Given the description of an element on the screen output the (x, y) to click on. 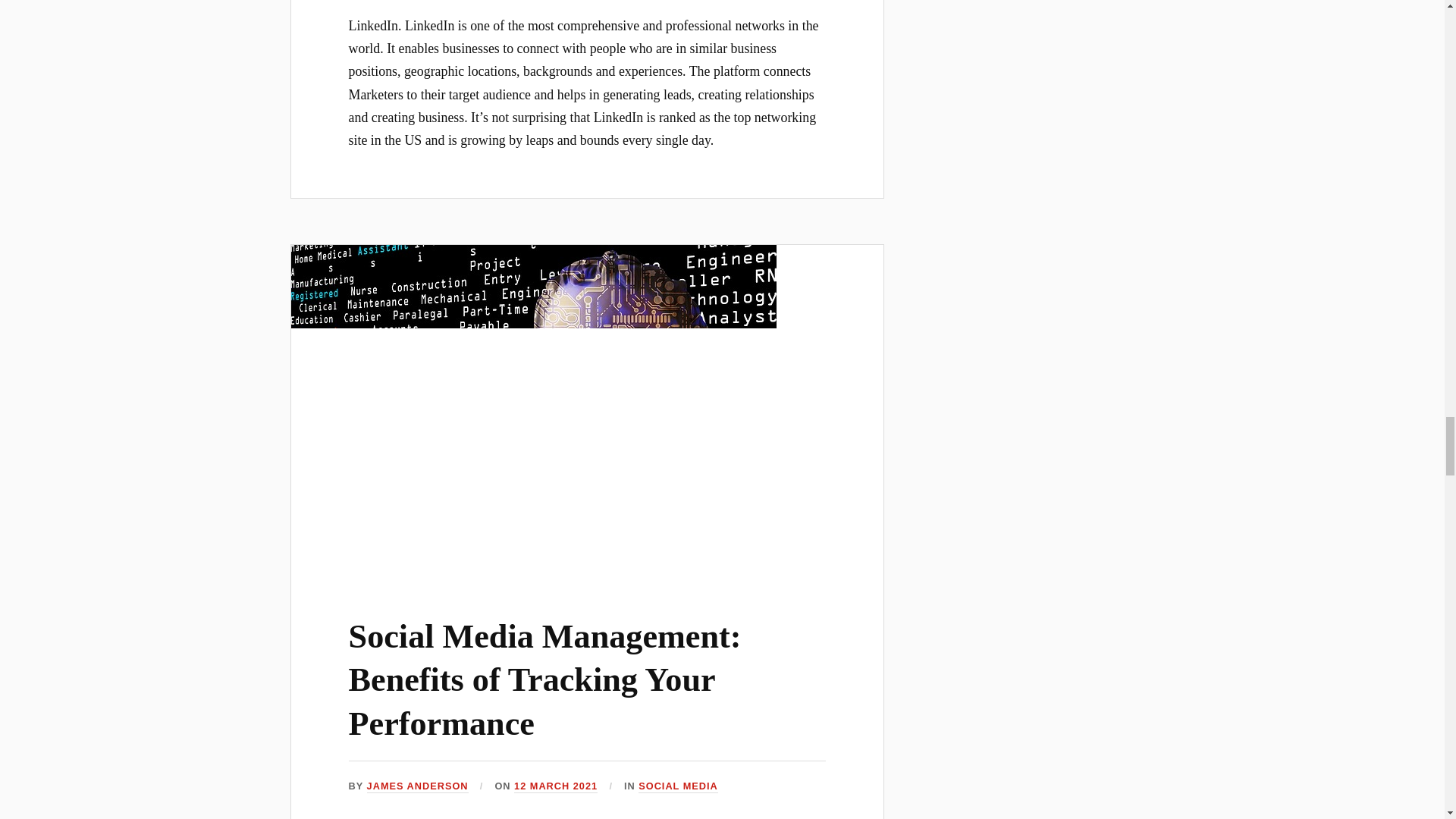
SOCIAL MEDIA (678, 786)
Posts by James Anderson (417, 786)
12 MARCH 2021 (554, 786)
JAMES ANDERSON (417, 786)
